Given the description of an element on the screen output the (x, y) to click on. 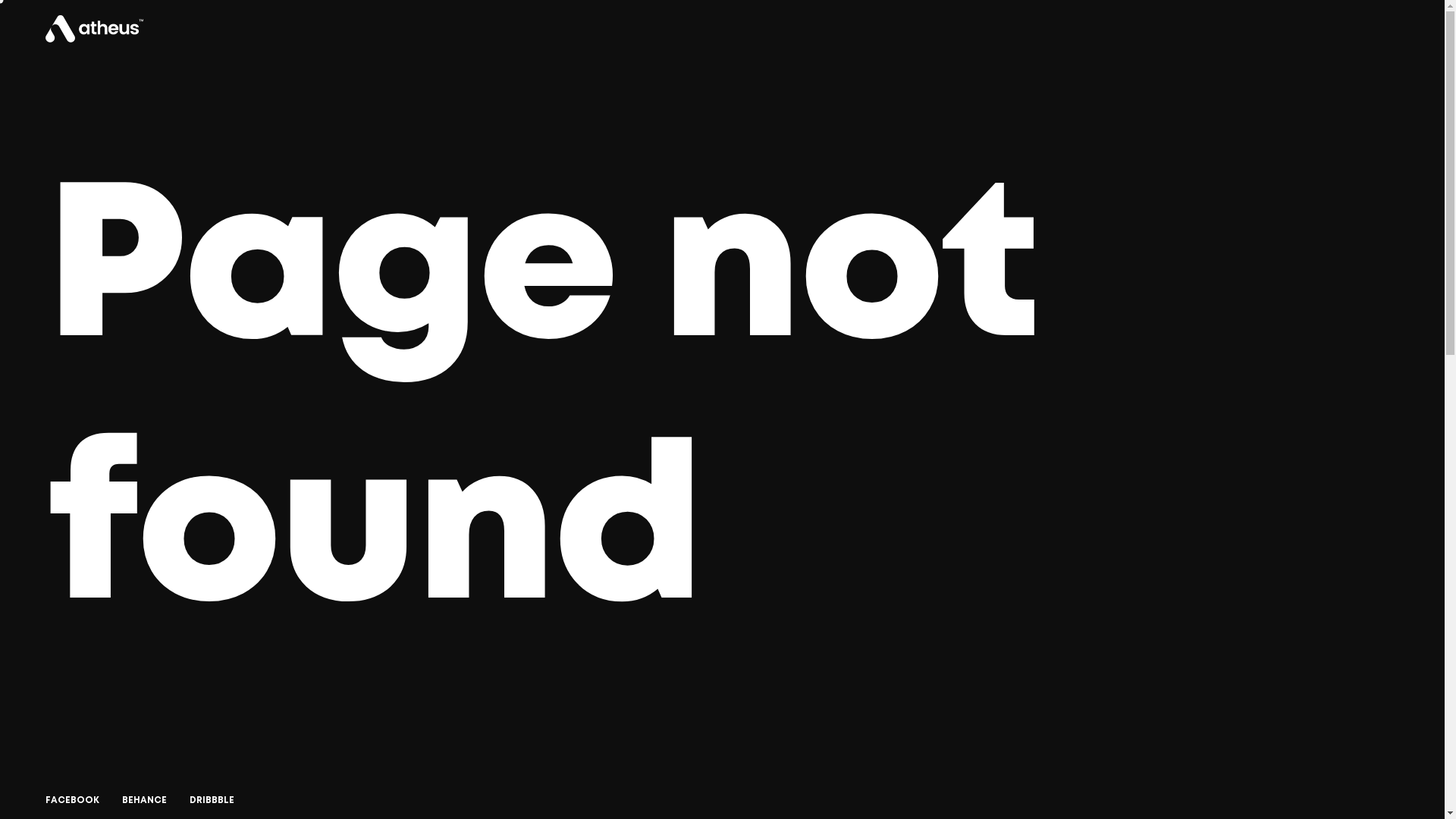
FACEBOOK Element type: text (72, 800)
DRIBBBLE Element type: text (211, 800)
BEHANCE Element type: text (144, 800)
